Given the description of an element on the screen output the (x, y) to click on. 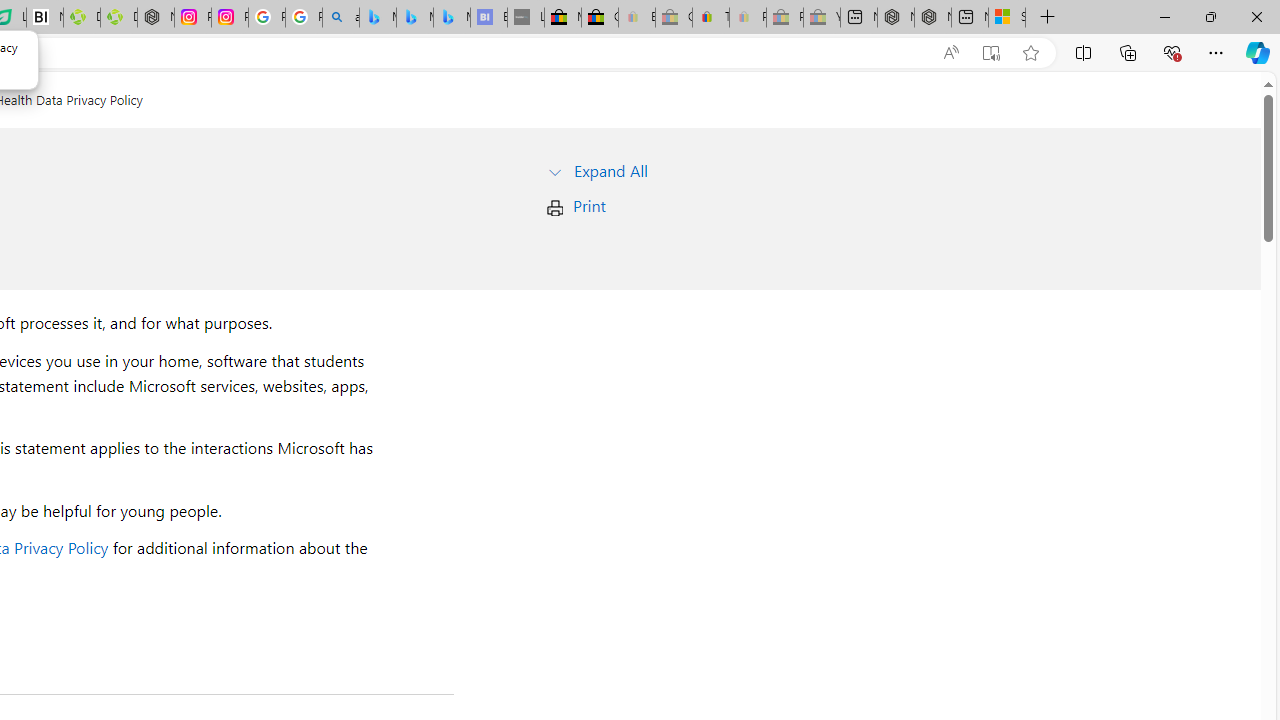
Yard, Garden & Outdoor Living - Sleeping (821, 17)
Payments Terms of Use | eBay.com - Sleeping (747, 17)
Threats and offensive language policy | eBay (710, 17)
Nordace - Nordace Edin Collection (156, 17)
Nvidia va a poner a prueba la paciencia de los inversores (44, 17)
